Given the description of an element on the screen output the (x, y) to click on. 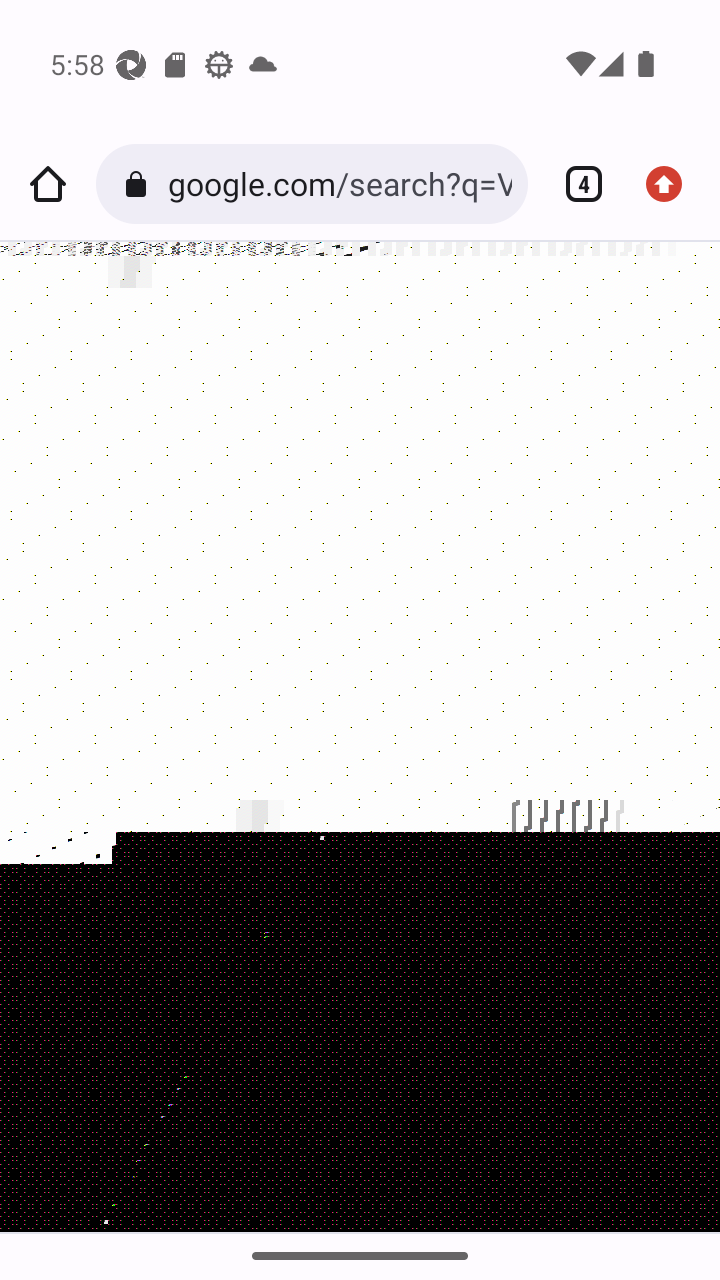
Home (47, 184)
Connection is secure (139, 184)
Switch or close tabs (575, 184)
Update available. More options (672, 184)
